Given the description of an element on the screen output the (x, y) to click on. 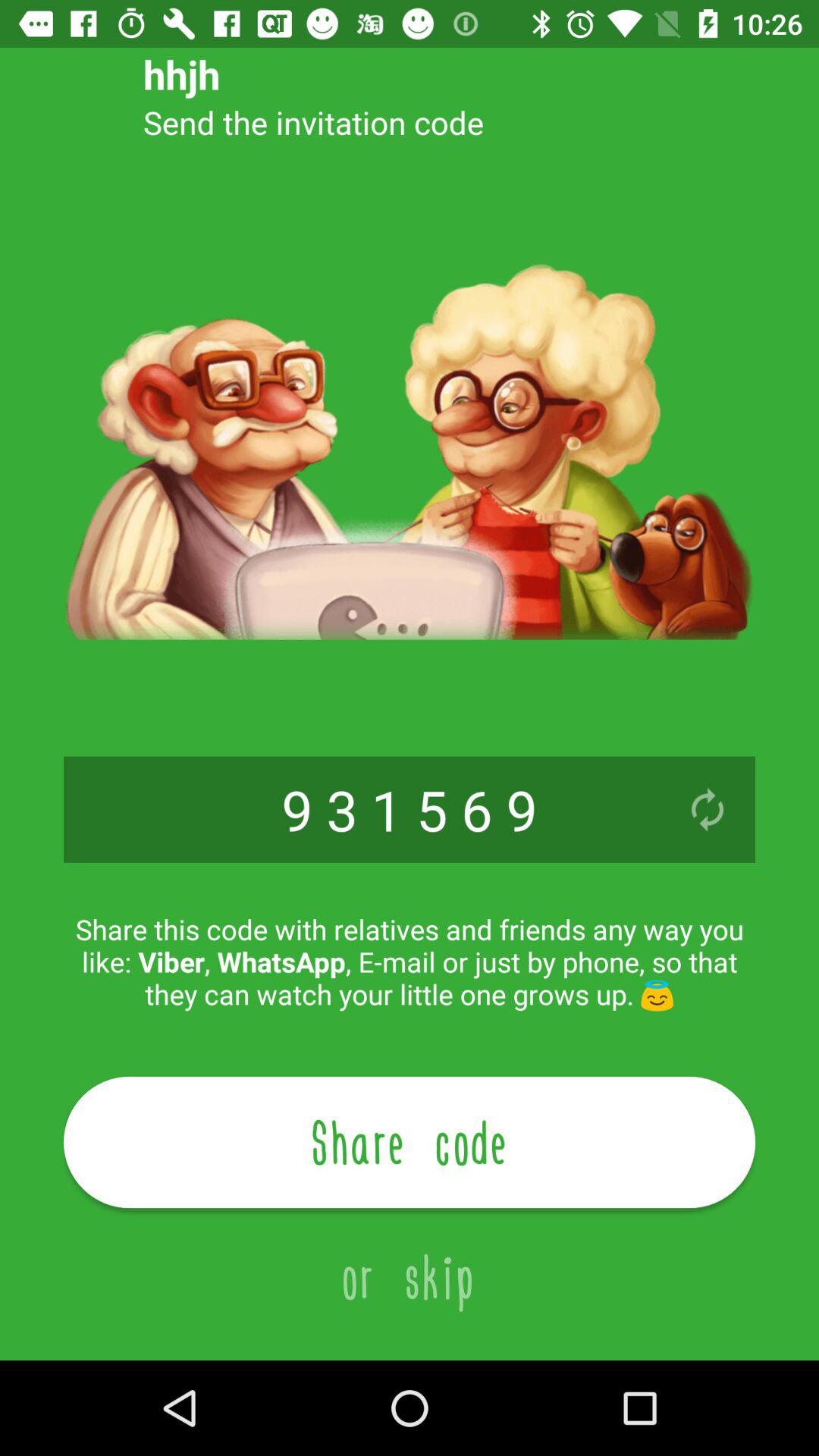
tap the icon below share code item (409, 1260)
